Given the description of an element on the screen output the (x, y) to click on. 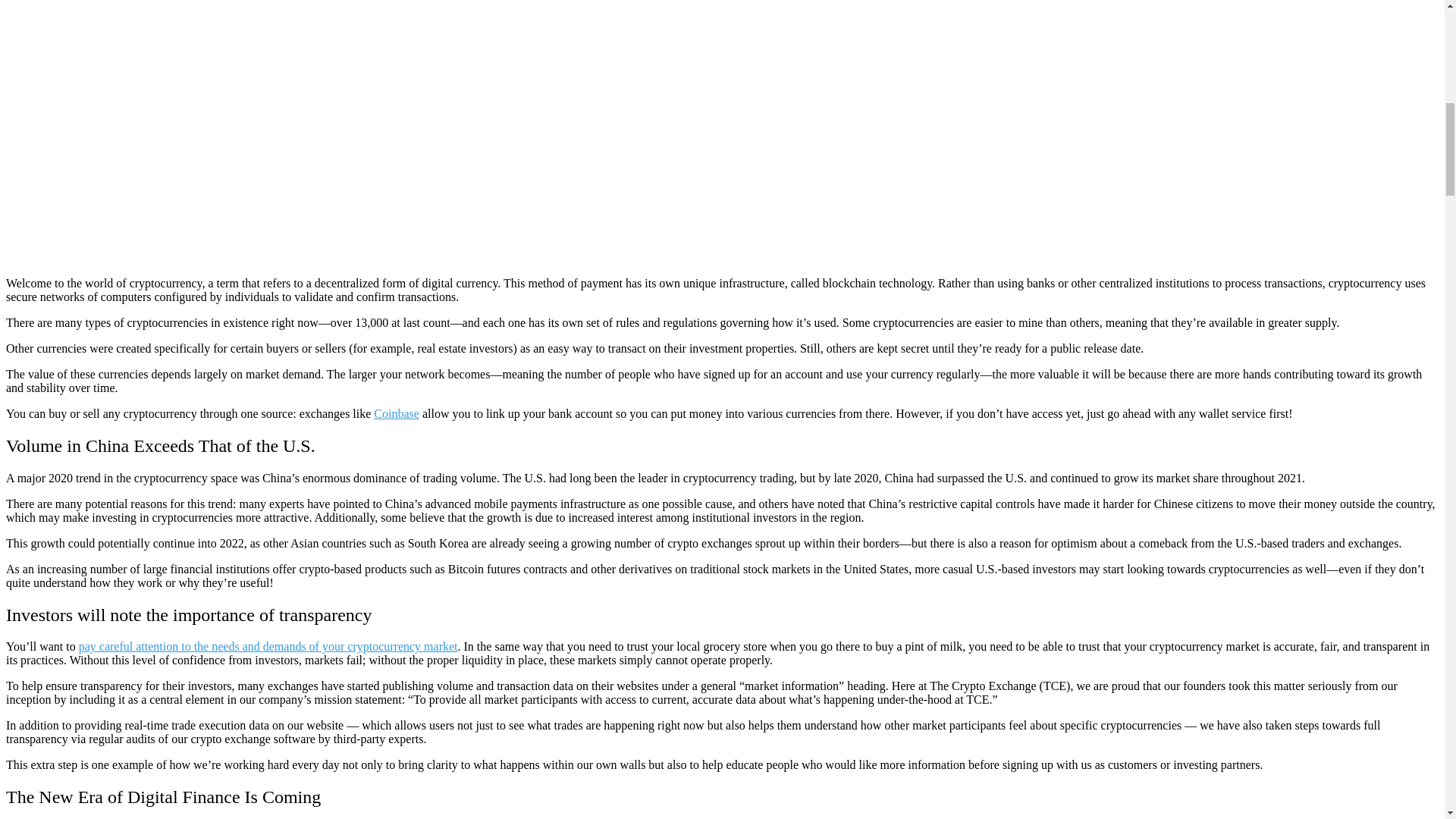
Coinbase (396, 413)
